Given the description of an element on the screen output the (x, y) to click on. 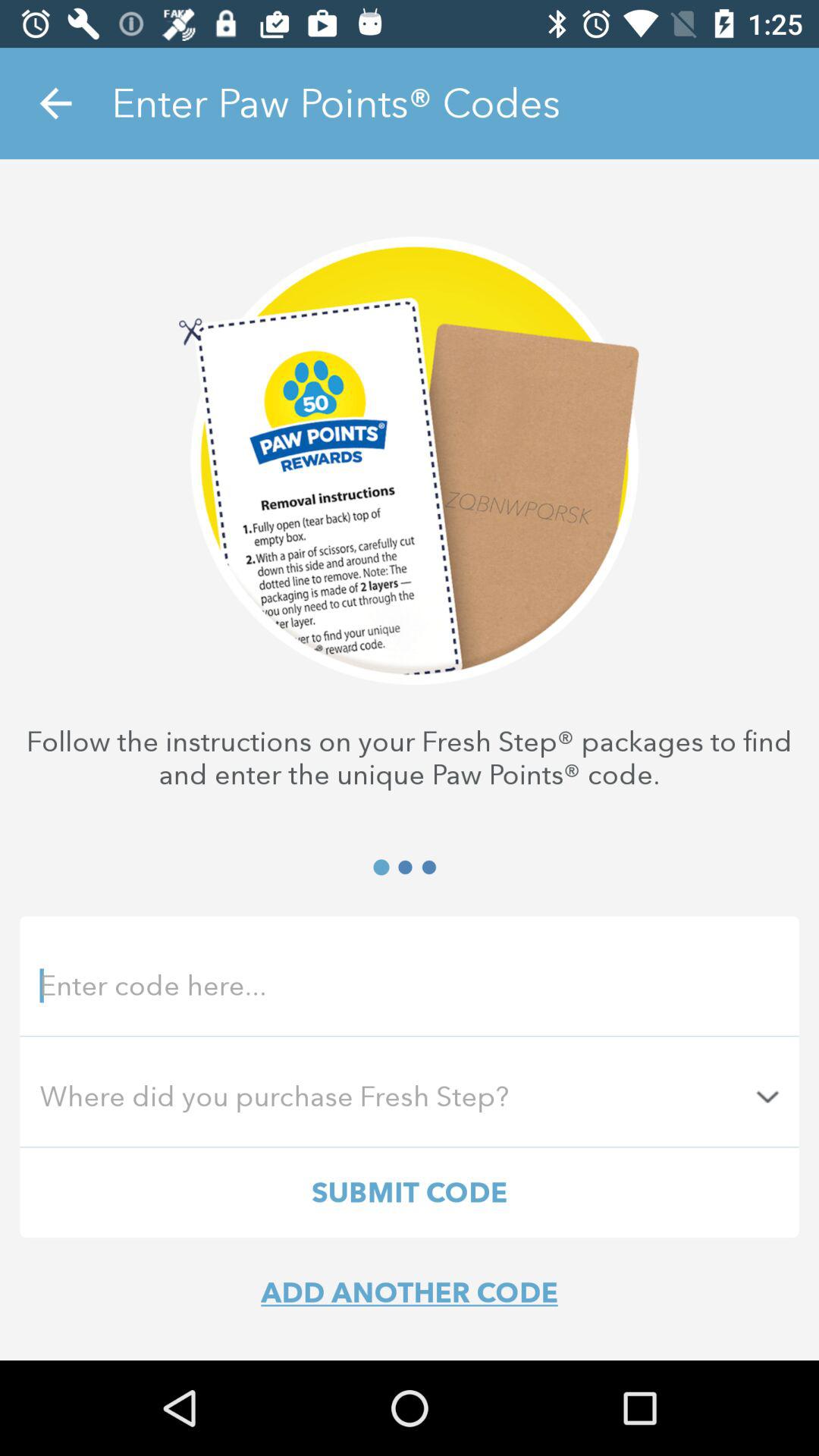
click icon next to enter paw points (55, 103)
